Given the description of an element on the screen output the (x, y) to click on. 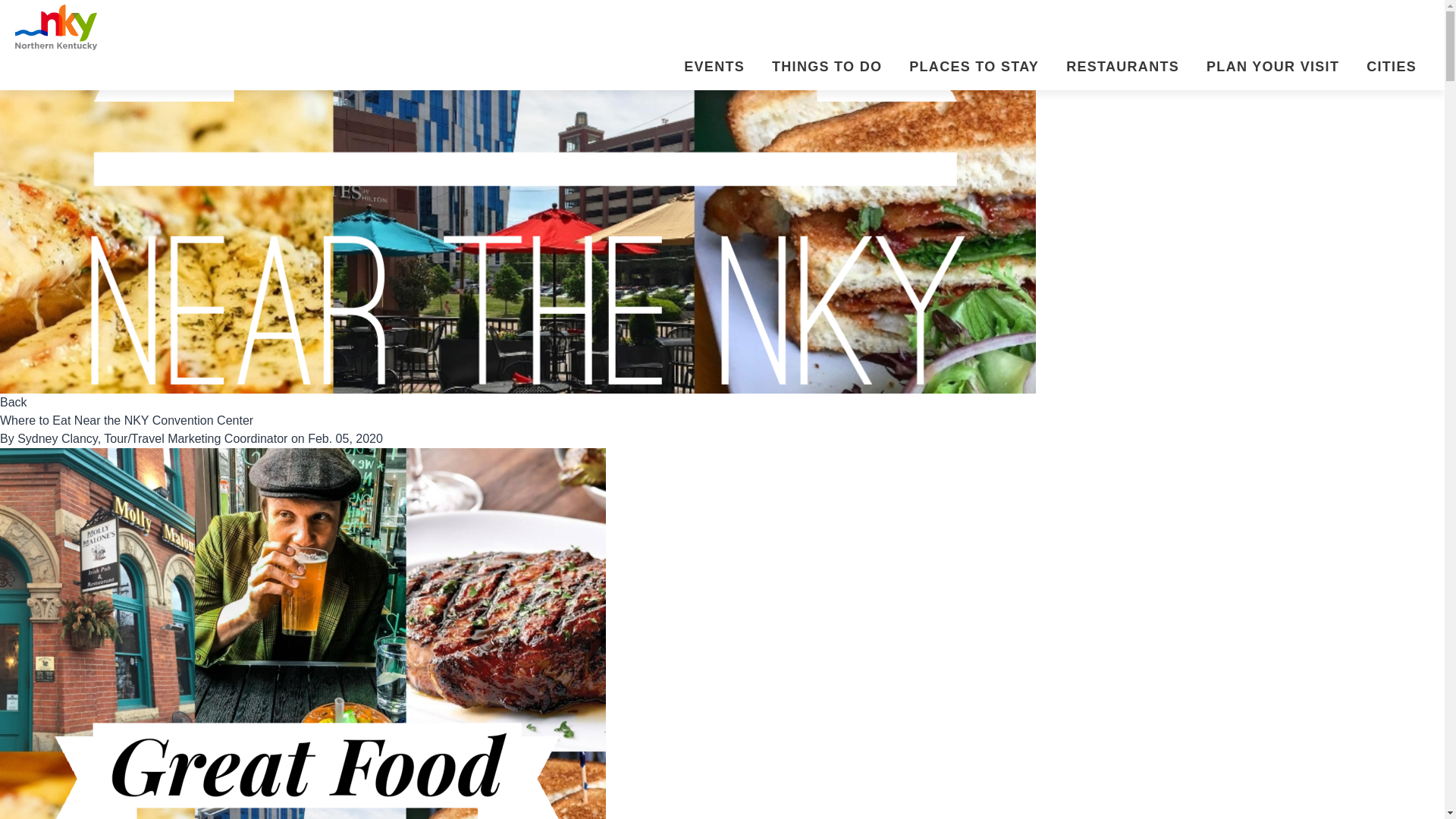
EVENTS (710, 67)
RESTAURANTS (1119, 67)
CITIES (1387, 67)
THINGS TO DO (823, 67)
PLAN YOUR VISIT (1269, 67)
PLACES TO STAY (970, 67)
